Given the description of an element on the screen output the (x, y) to click on. 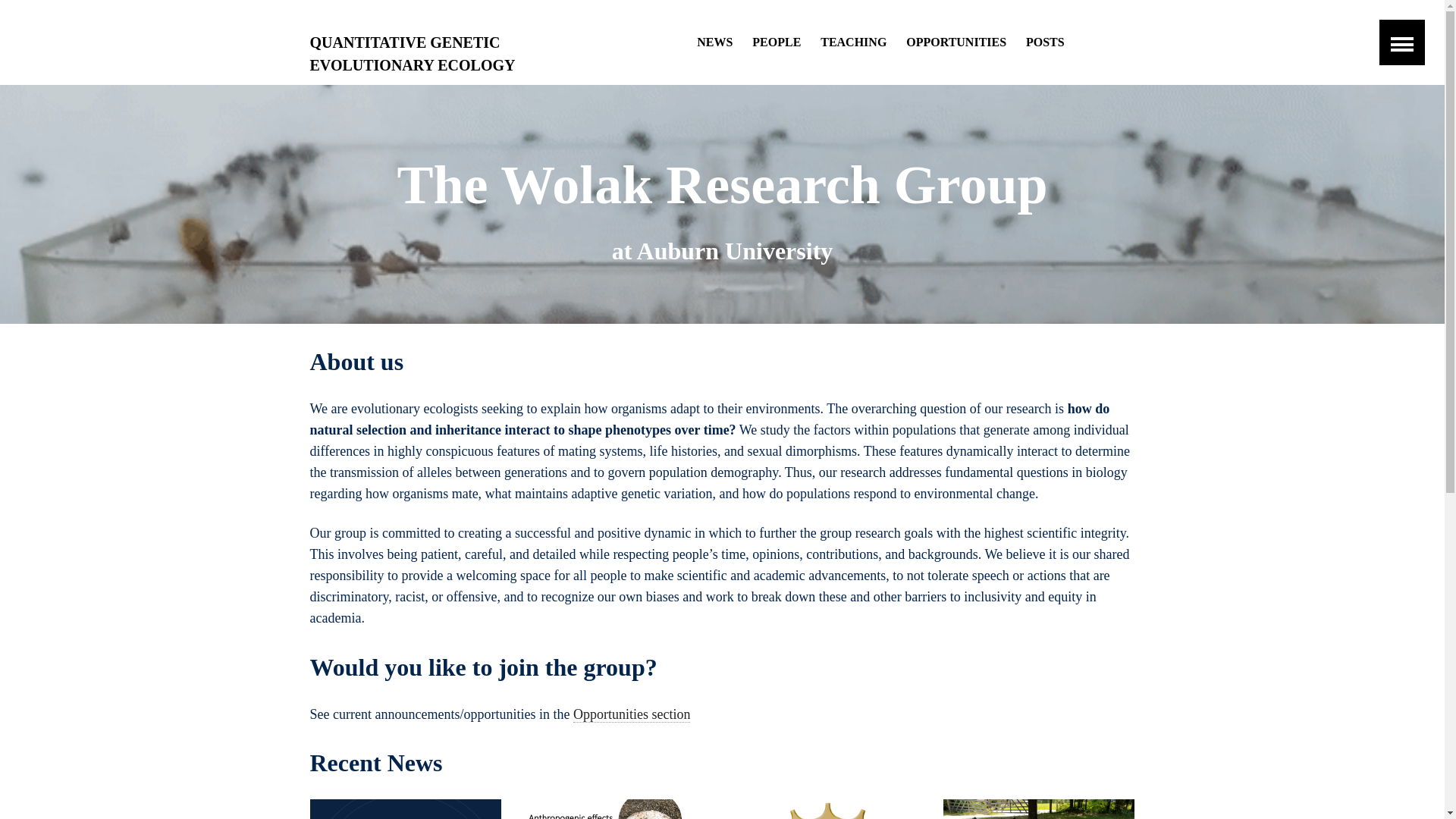
Congratulations to Molly (617, 809)
Opportunities section (631, 714)
TEACHING (853, 42)
Molly and Jorge's turtle nesting paper is published! (1039, 809)
PEOPLE (776, 42)
NSF CAREER Award! (827, 809)
OPPORTUNITIES (955, 42)
QUANTITATIVE GENETIC EVOLUTIONARY ECOLOGY (440, 42)
Press coverage of the recent NSF CAREER award for beetles (404, 809)
